Given the description of an element on the screen output the (x, y) to click on. 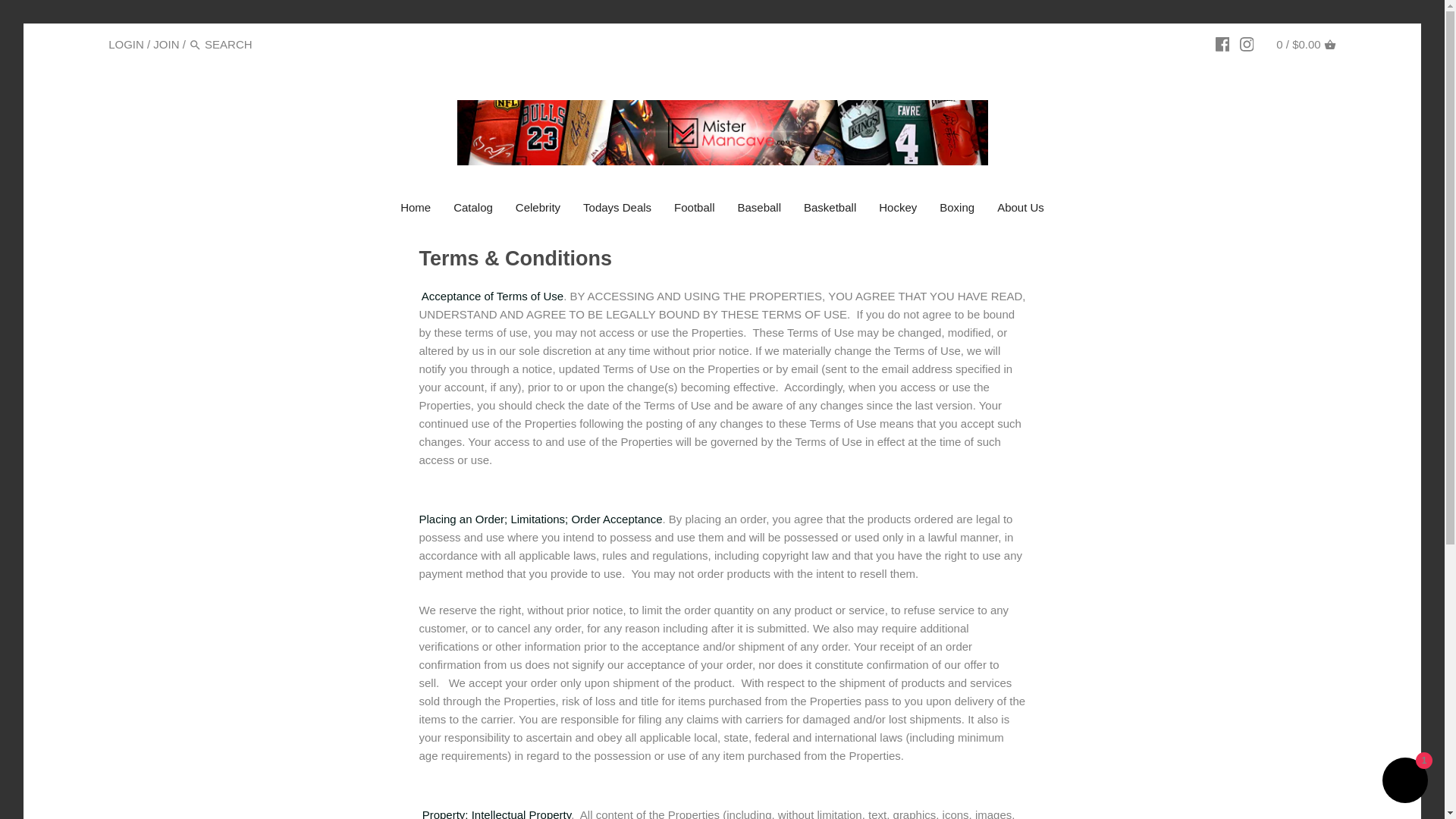
Basketball (829, 209)
Home (415, 209)
Search (195, 43)
Baseball (758, 209)
About Us (1020, 209)
CART (1329, 44)
Boxing (956, 209)
Acceptance of Terms of Use (492, 295)
LOGIN (125, 43)
Placing an Order; Limitations; Order Acceptance (540, 518)
INSTAGRAM (1246, 43)
Celebrity (537, 209)
JOIN (165, 43)
Property; Intellectual Property (496, 813)
Catalog (472, 209)
